Given the description of an element on the screen output the (x, y) to click on. 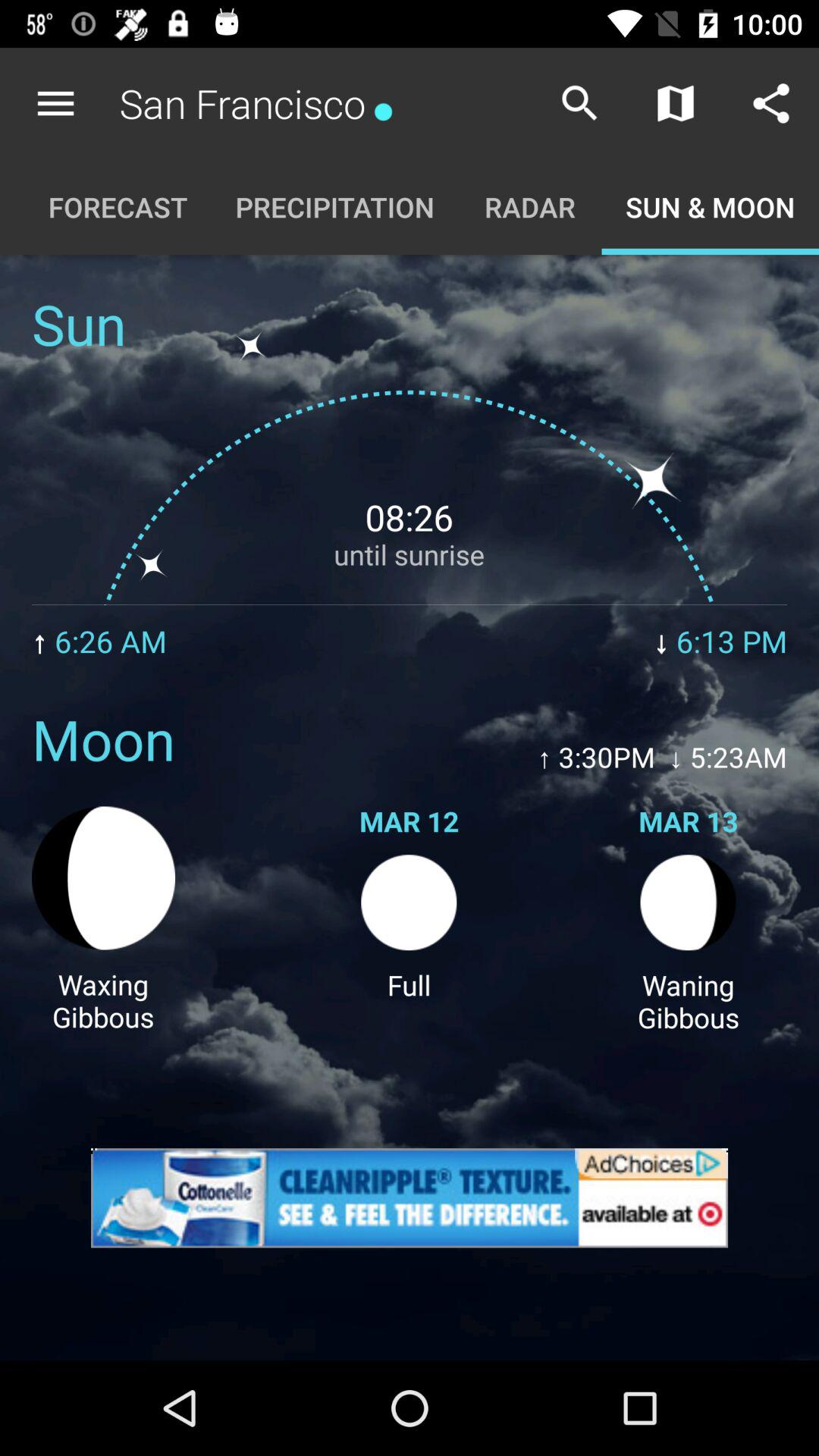
turn off app next to san francisco* icon (55, 103)
